Given the description of an element on the screen output the (x, y) to click on. 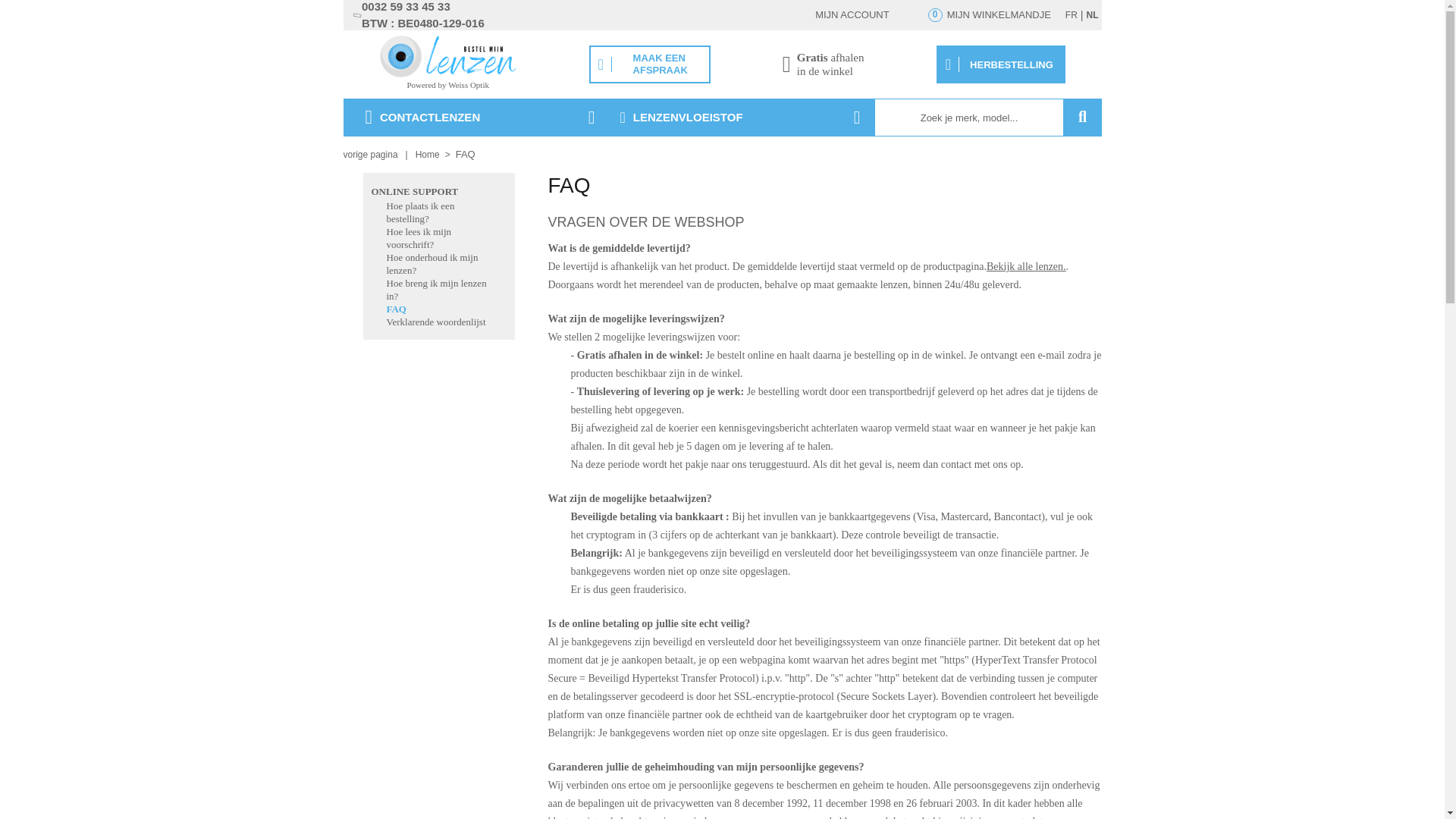
MIJN ACCOUNT Element type: text (791, 15)
Hoe breng ik mijn lenzen in? Element type: text (436, 289)
Hoe plaats ik een bestelling? Element type: text (420, 212)
NL Element type: text (1091, 14)
Home Element type: text (427, 154)
CONTACTLENZEN Element type: text (475, 117)
FAQ Element type: text (396, 308)
Verklarende woordenlijst Element type: text (436, 320)
MAAK EEN
AFSPRAAK Element type: text (649, 64)
Hoe onderhoud ik mijn lenzen? Element type: text (432, 263)
LENZENVLOEISTOF Element type: text (740, 117)
Bekijk alle lenzen. Element type: text (1026, 266)
vorige pagina Element type: text (373, 154)
FR Element type: text (1071, 14)
Hoe lees ik mijn voorschrift? Element type: text (418, 237)
Powered by Weiss Optik Element type: text (447, 84)
HERBESTELLING Element type: text (1000, 64)
